Given the description of an element on the screen output the (x, y) to click on. 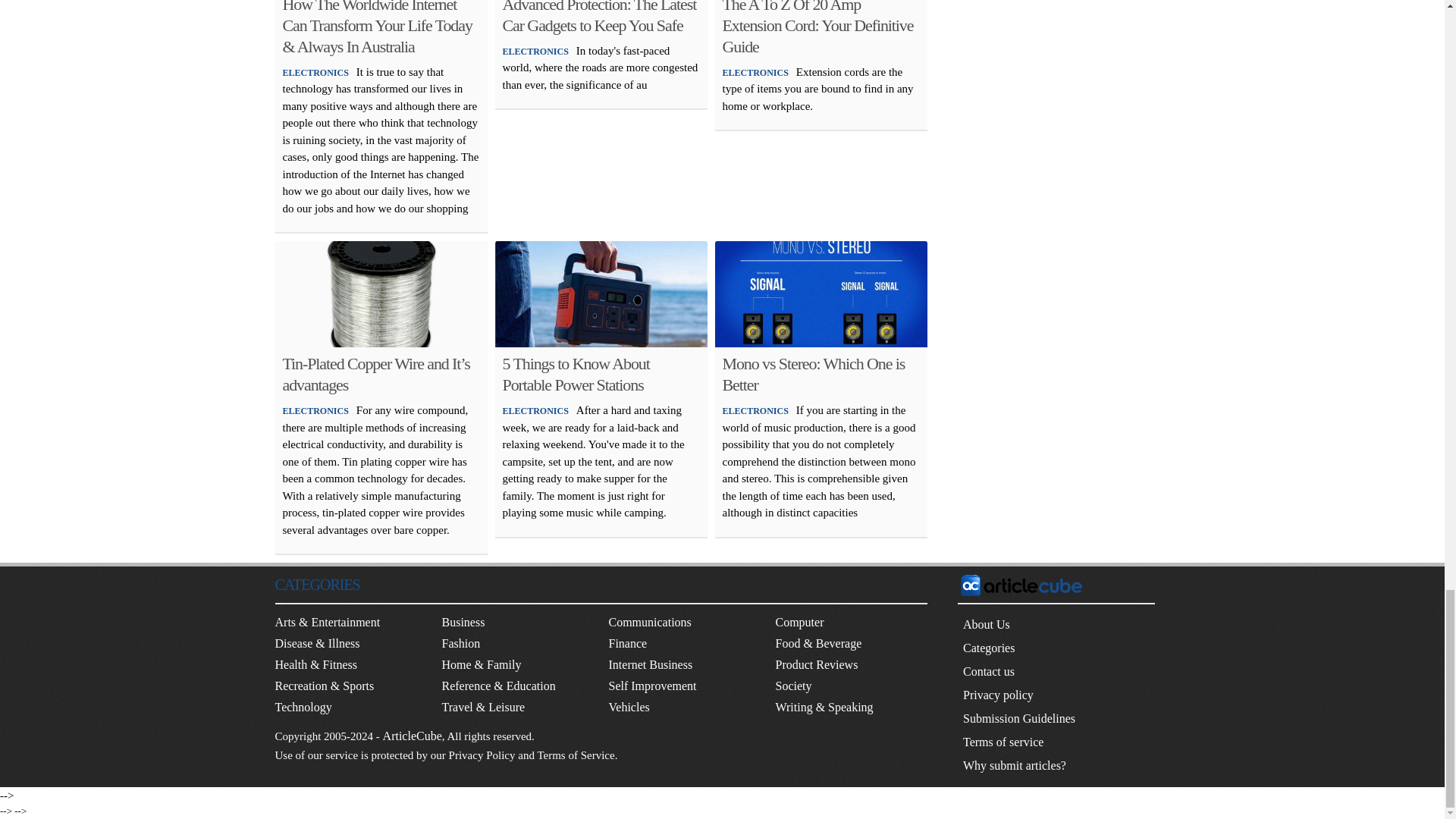
Advanced Protection: The Latest Car Gadgets to Keep You Safe (598, 17)
ELECTRONICS (534, 50)
ELECTRONICS (754, 71)
ELECTRONICS (314, 71)
5 Things to Know About Portable Power Stations (600, 293)
The A To Z Of 20 Amp Extension Cord: Your Definitive Guide (817, 27)
Mono vs Stereo (820, 293)
